Given the description of an element on the screen output the (x, y) to click on. 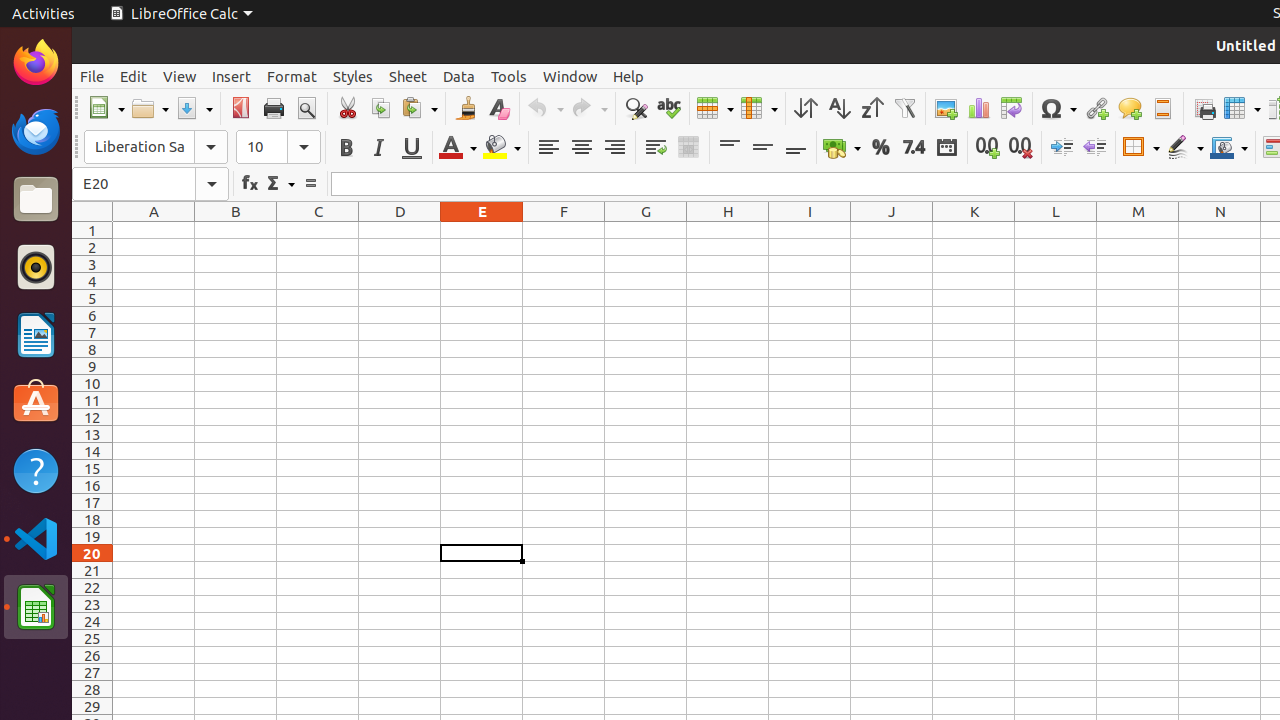
Spelling Element type: push-button (668, 108)
Background Color Element type: push-button (502, 147)
A1 Element type: table-cell (154, 230)
Styles Element type: menu (353, 76)
Sort Element type: push-button (805, 108)
